Given the description of an element on the screen output the (x, y) to click on. 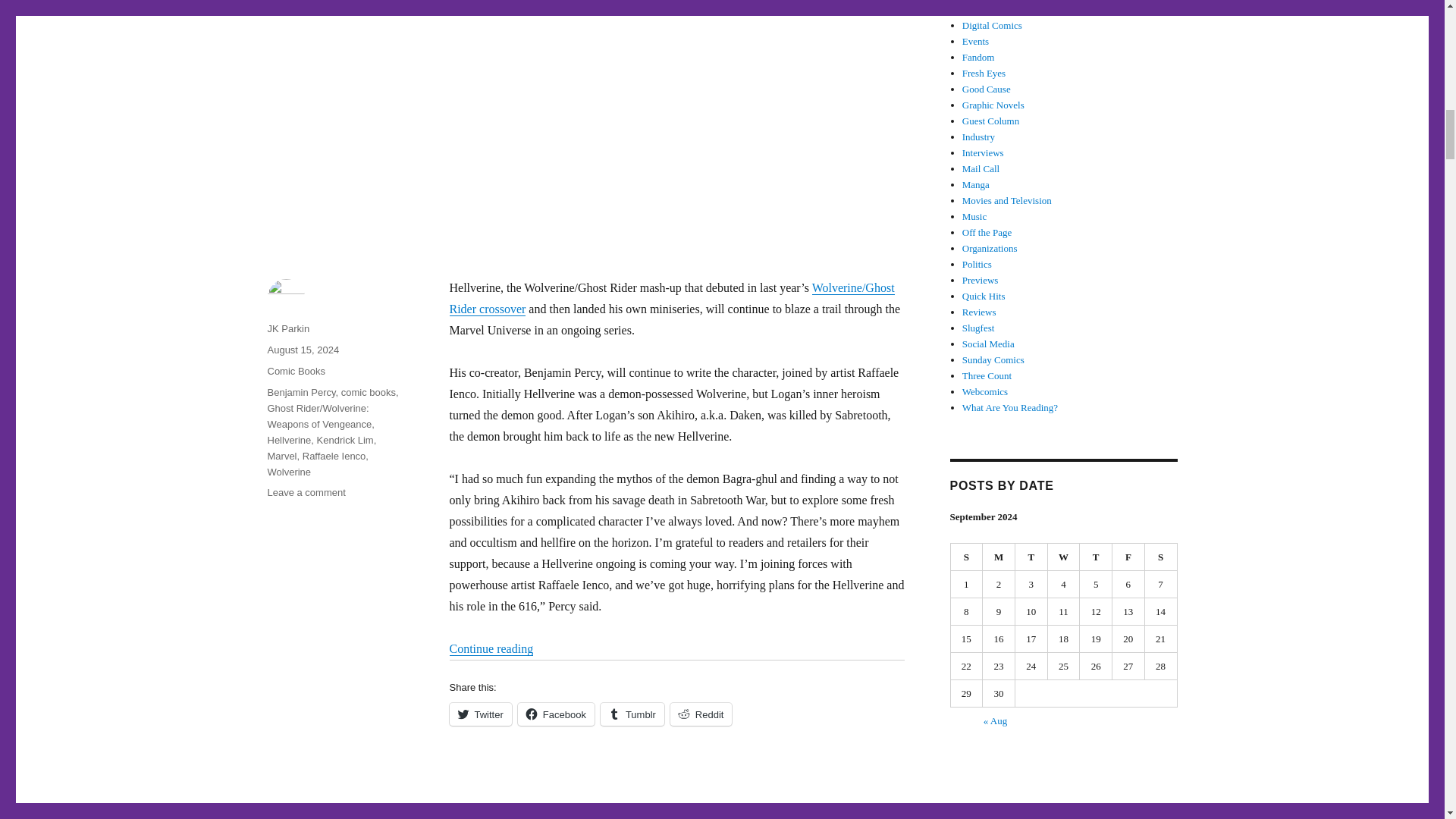
Click to share on Twitter (479, 713)
Click to share on Tumblr (631, 713)
Facebook (556, 713)
Click to share on Reddit (700, 713)
Twitter (479, 713)
Click to share on Facebook (556, 713)
Tumblr (631, 713)
Reddit (700, 713)
